Given the description of an element on the screen output the (x, y) to click on. 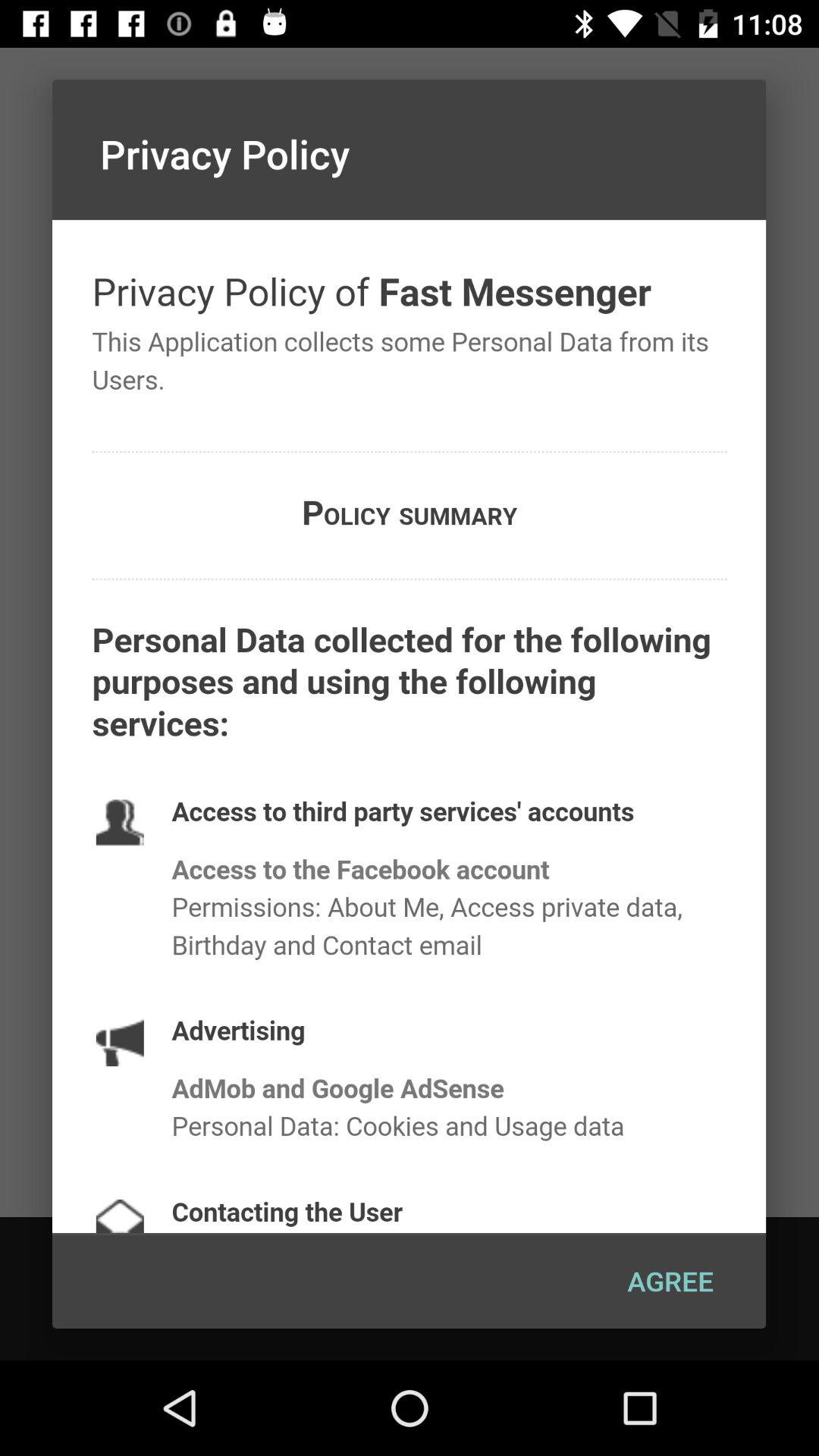
color print (409, 726)
